Given the description of an element on the screen output the (x, y) to click on. 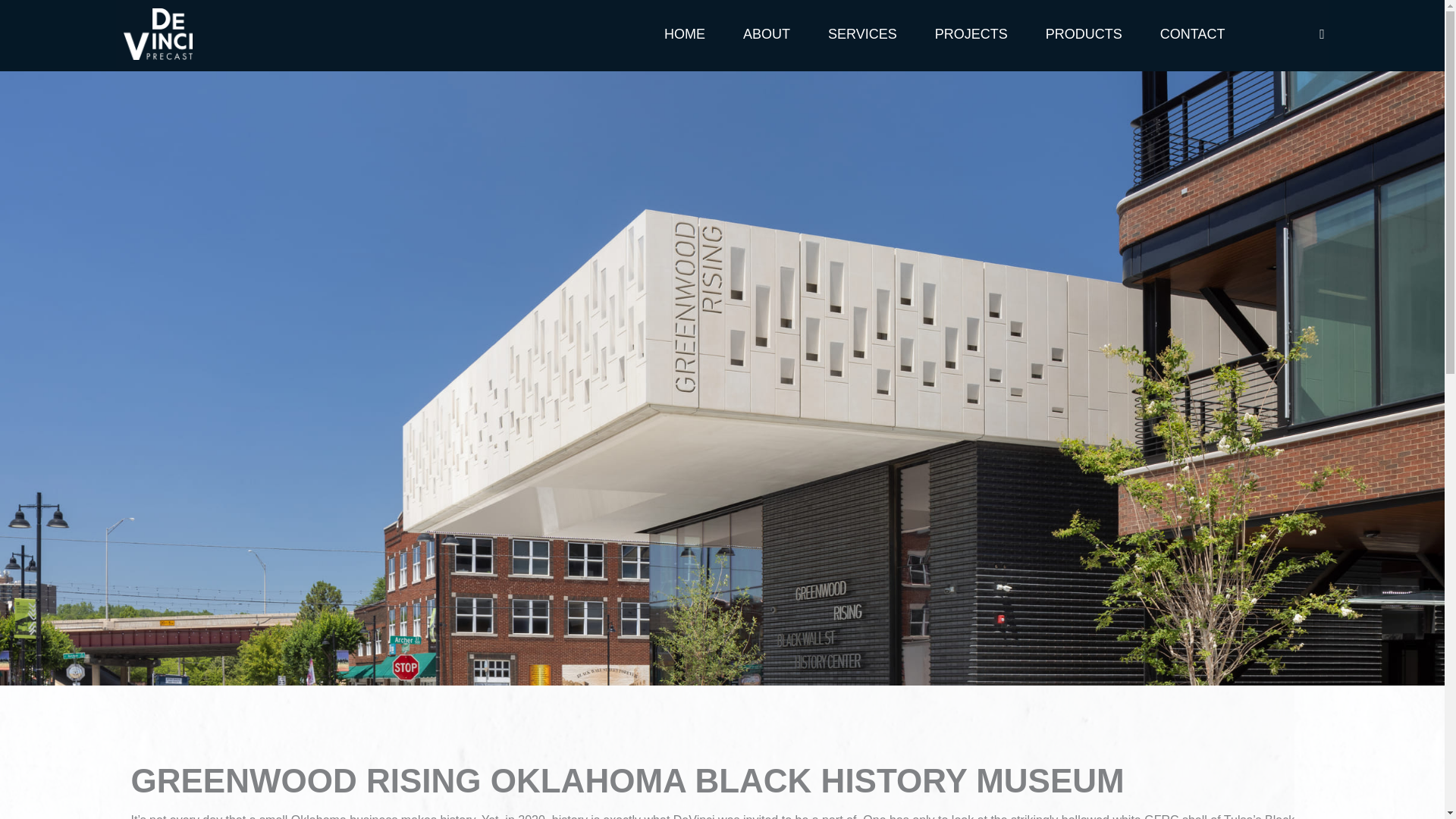
PROJECTS (970, 33)
PRODUCTS (1083, 33)
ABOUT (766, 33)
SERVICES (862, 33)
HOME (684, 33)
CONTACT (1192, 33)
